Given the description of an element on the screen output the (x, y) to click on. 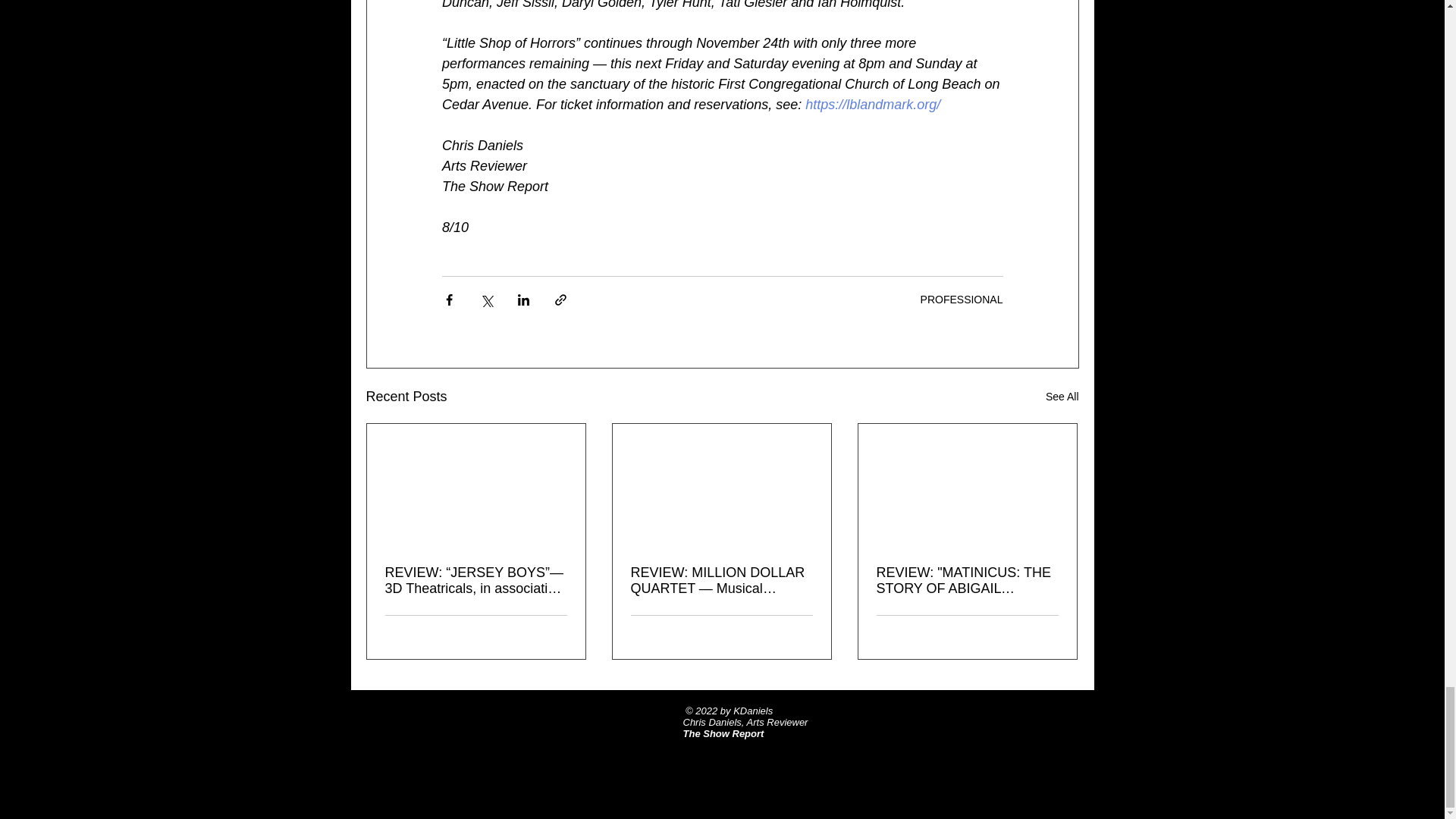
The Show Report (722, 733)
See All (1061, 396)
PROFESSIONAL (961, 299)
